Given the description of an element on the screen output the (x, y) to click on. 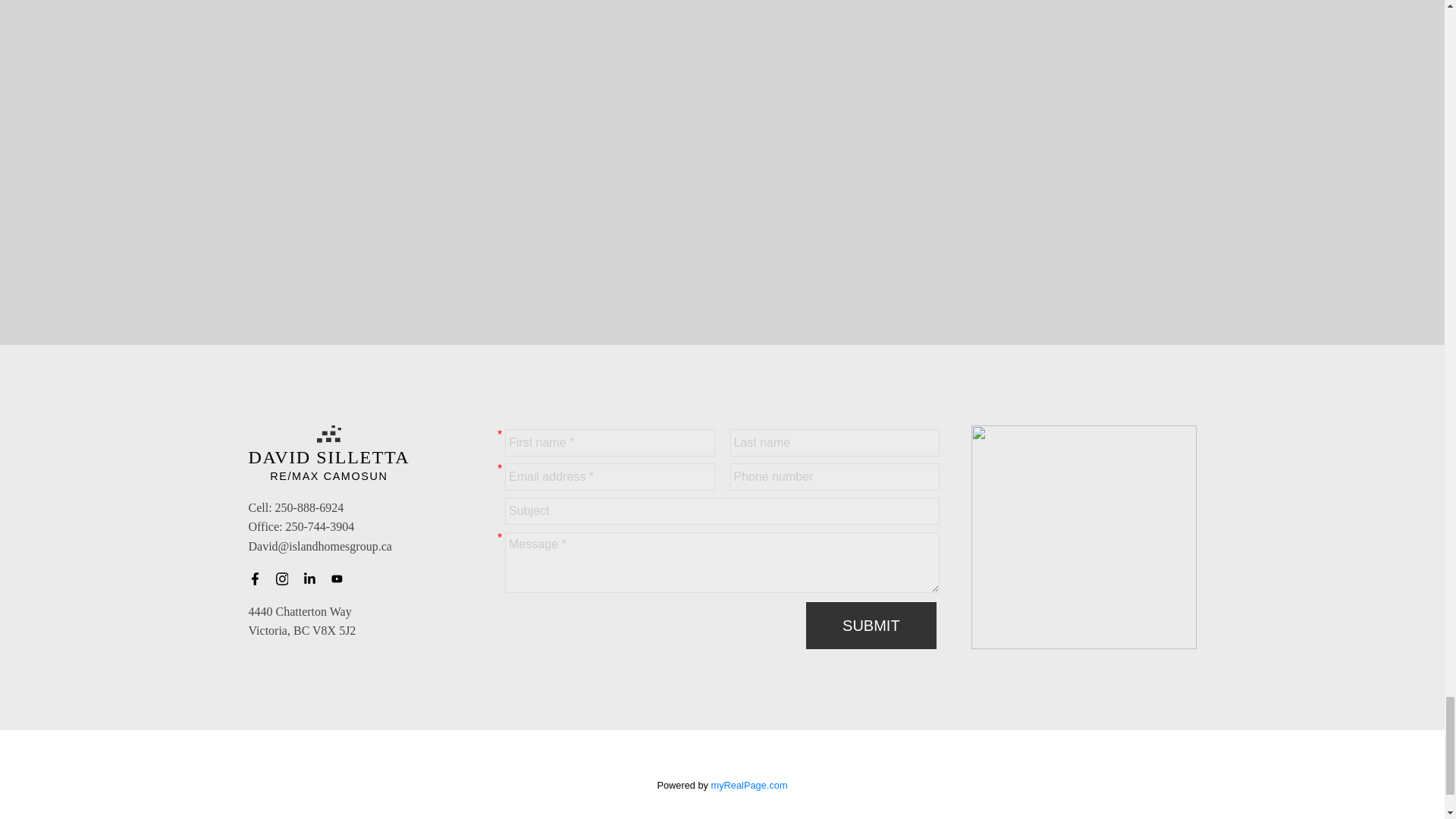
linkedin (313, 578)
Facebook (258, 578)
instagram (286, 578)
Youtube (341, 578)
